Given the description of an element on the screen output the (x, y) to click on. 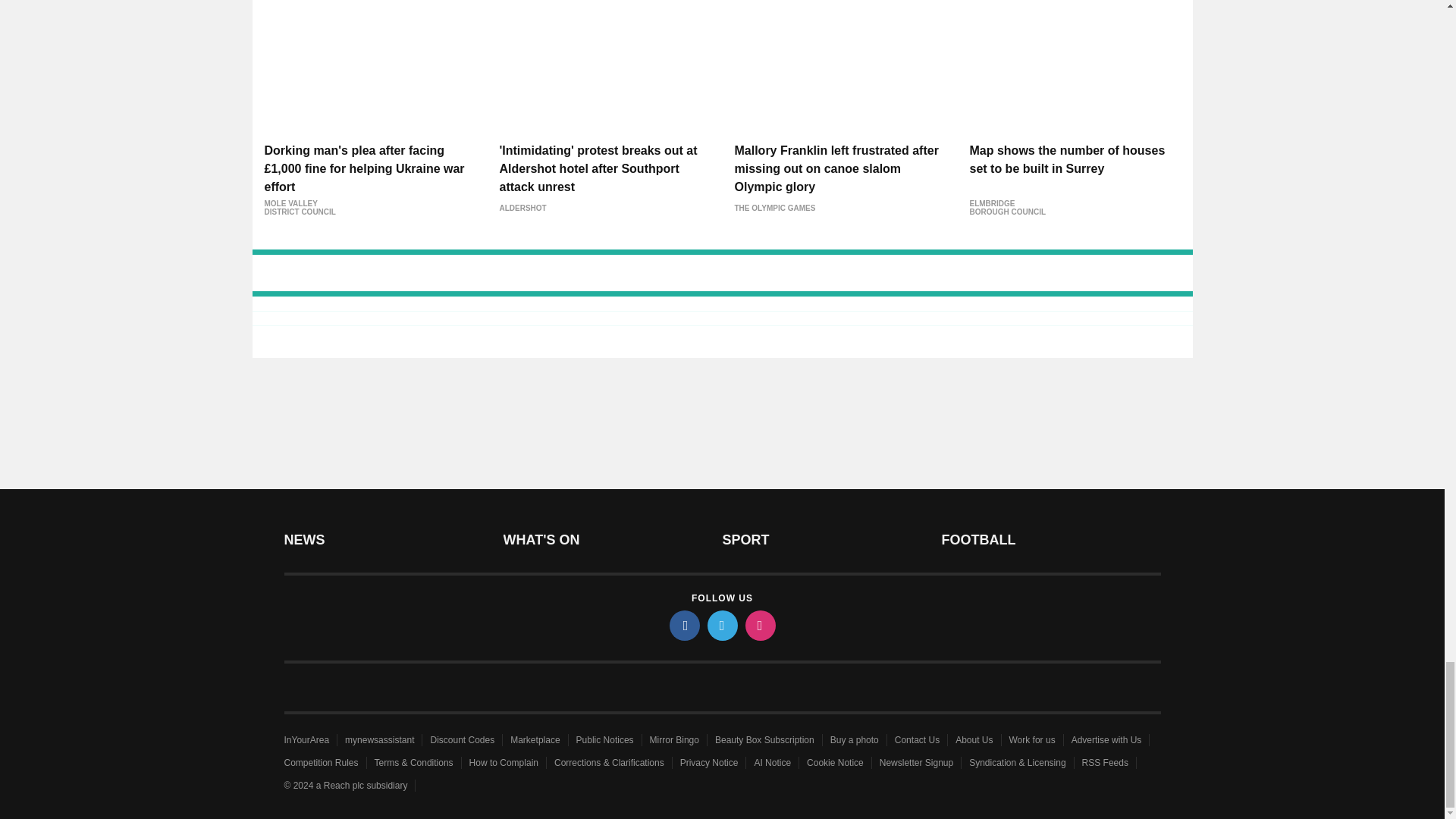
facebook (683, 625)
twitter (721, 625)
instagram (759, 625)
